Given the description of an element on the screen output the (x, y) to click on. 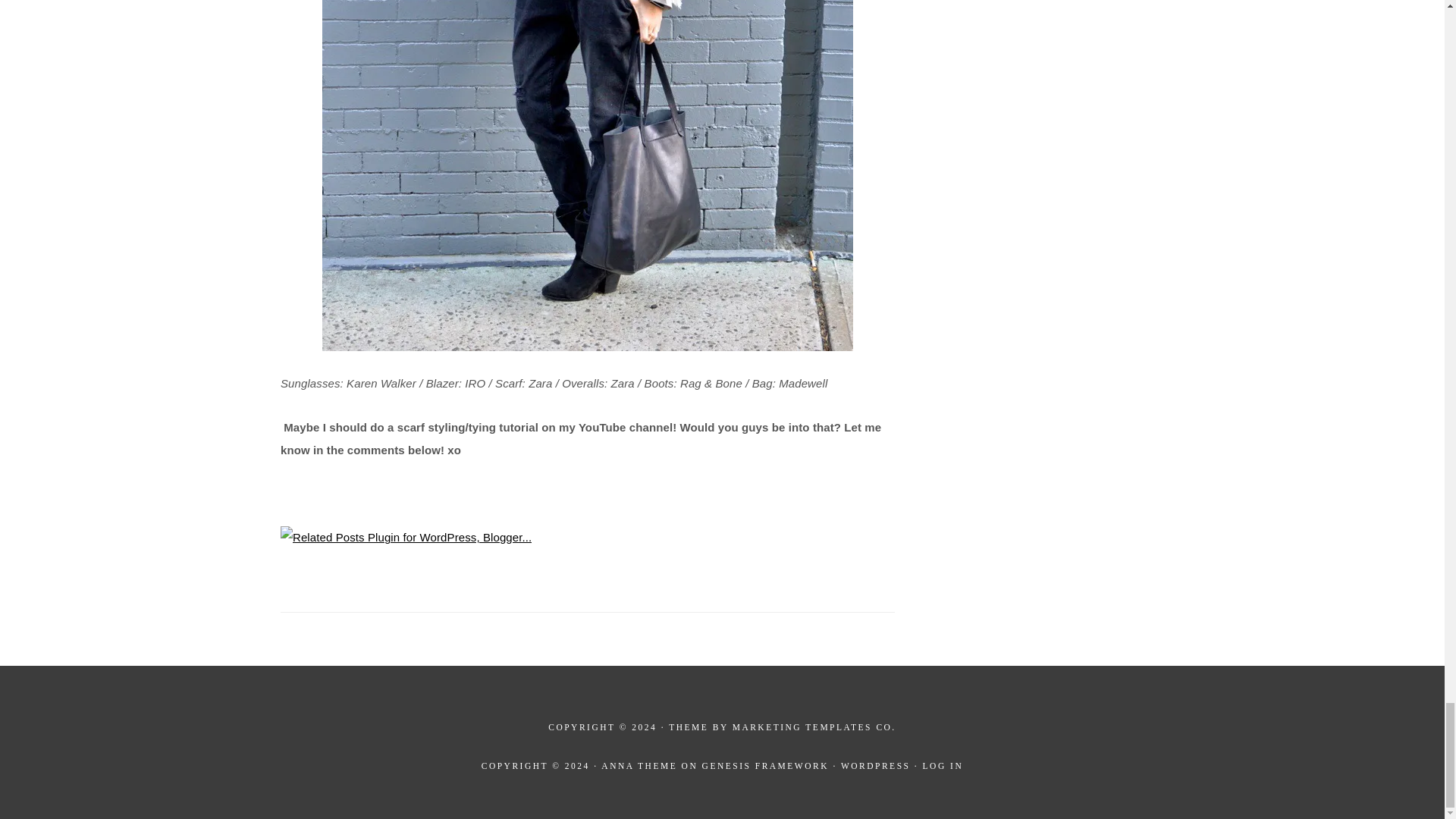
WORDPRESS (876, 765)
GENESIS FRAMEWORK (764, 765)
MARKETING TEMPLATES CO. (814, 727)
ANNA THEME (639, 765)
LOG IN (943, 765)
